Given the description of an element on the screen output the (x, y) to click on. 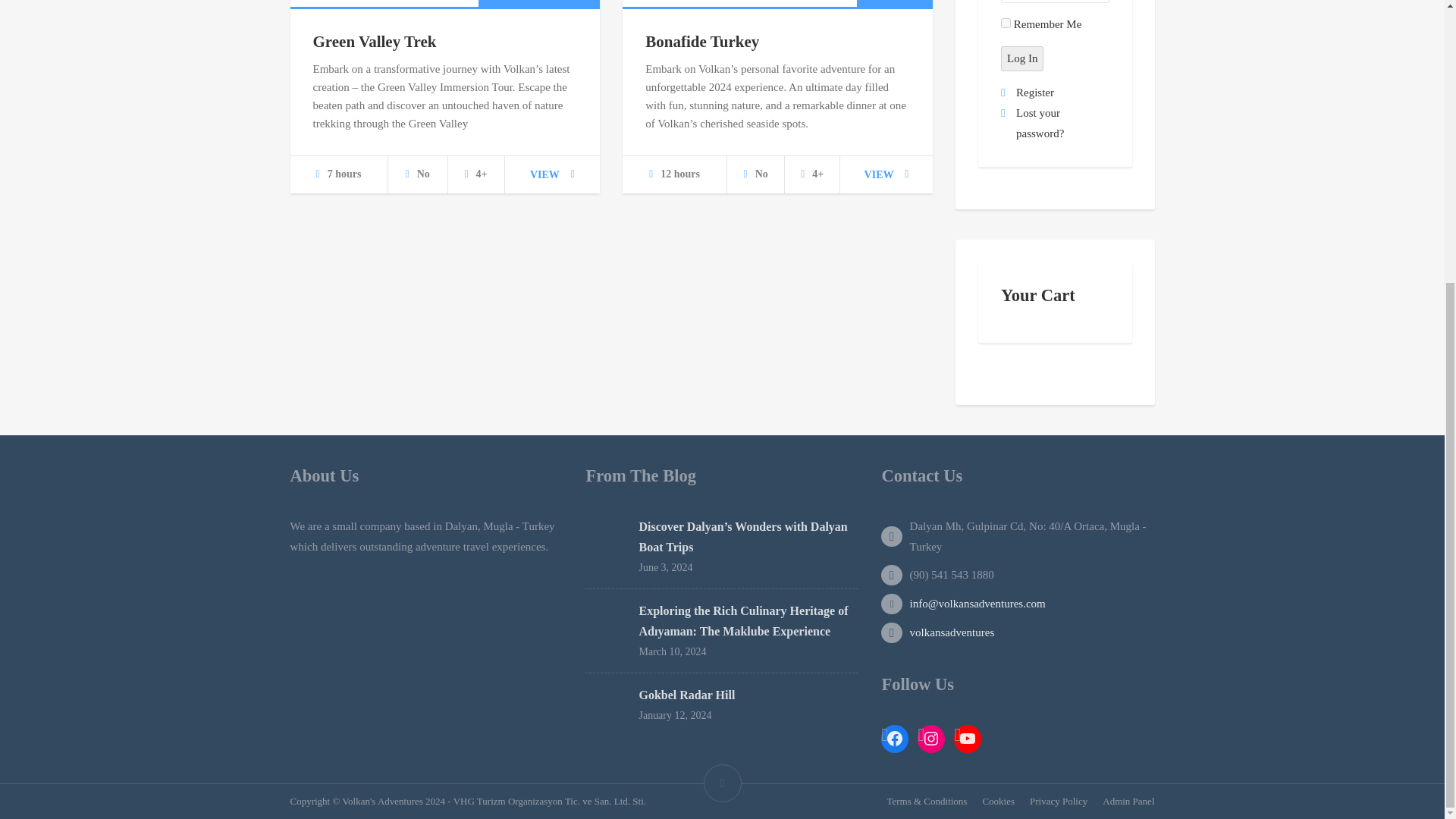
Bonafide Turkey (701, 40)
VIEW (886, 173)
VIEW (552, 173)
Lost your password? (1040, 123)
Log In (1022, 58)
Register (1035, 92)
Green Valley Trek (374, 40)
forever (1005, 22)
